Given the description of an element on the screen output the (x, y) to click on. 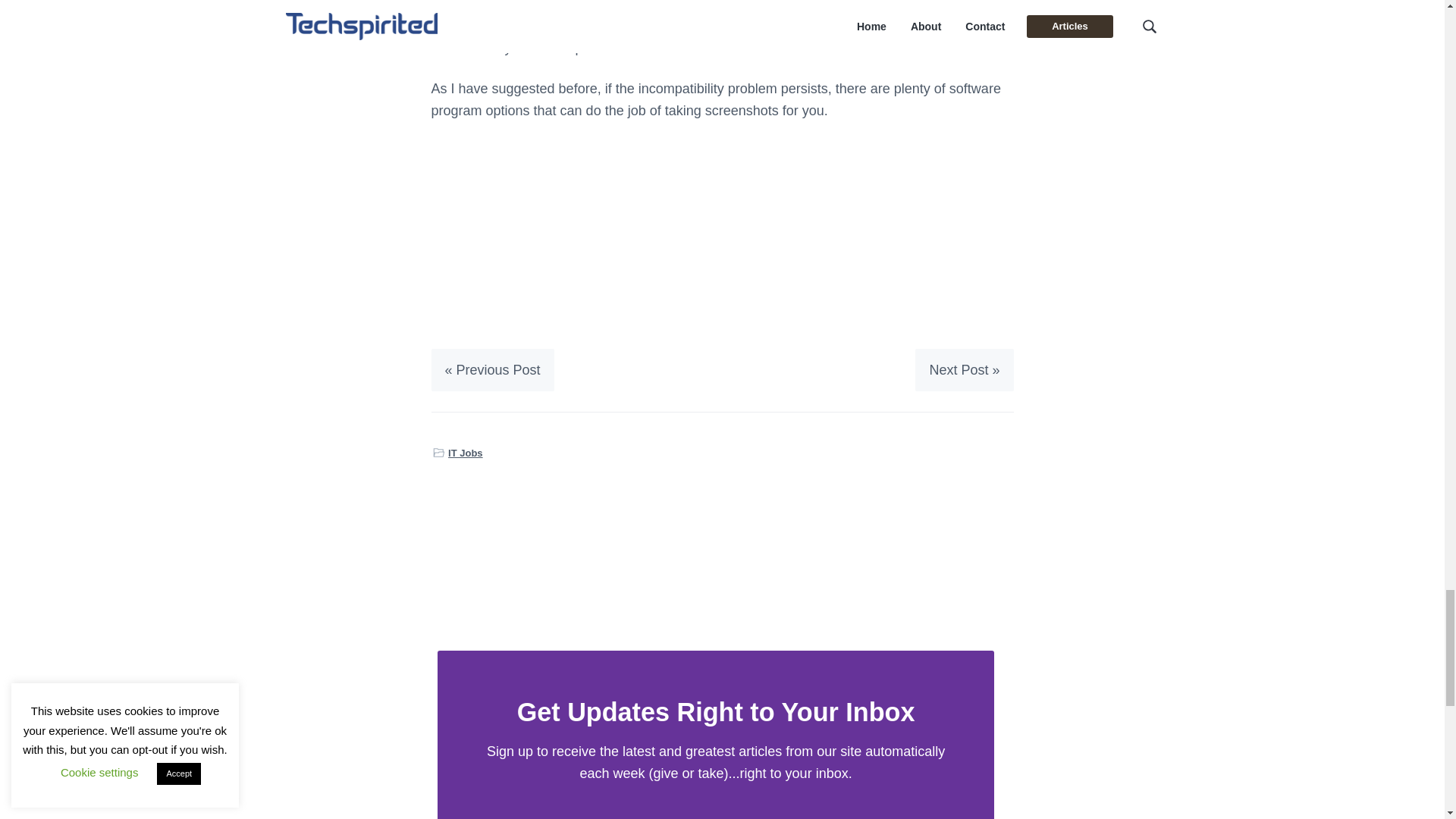
IT Jobs (465, 453)
